Given the description of an element on the screen output the (x, y) to click on. 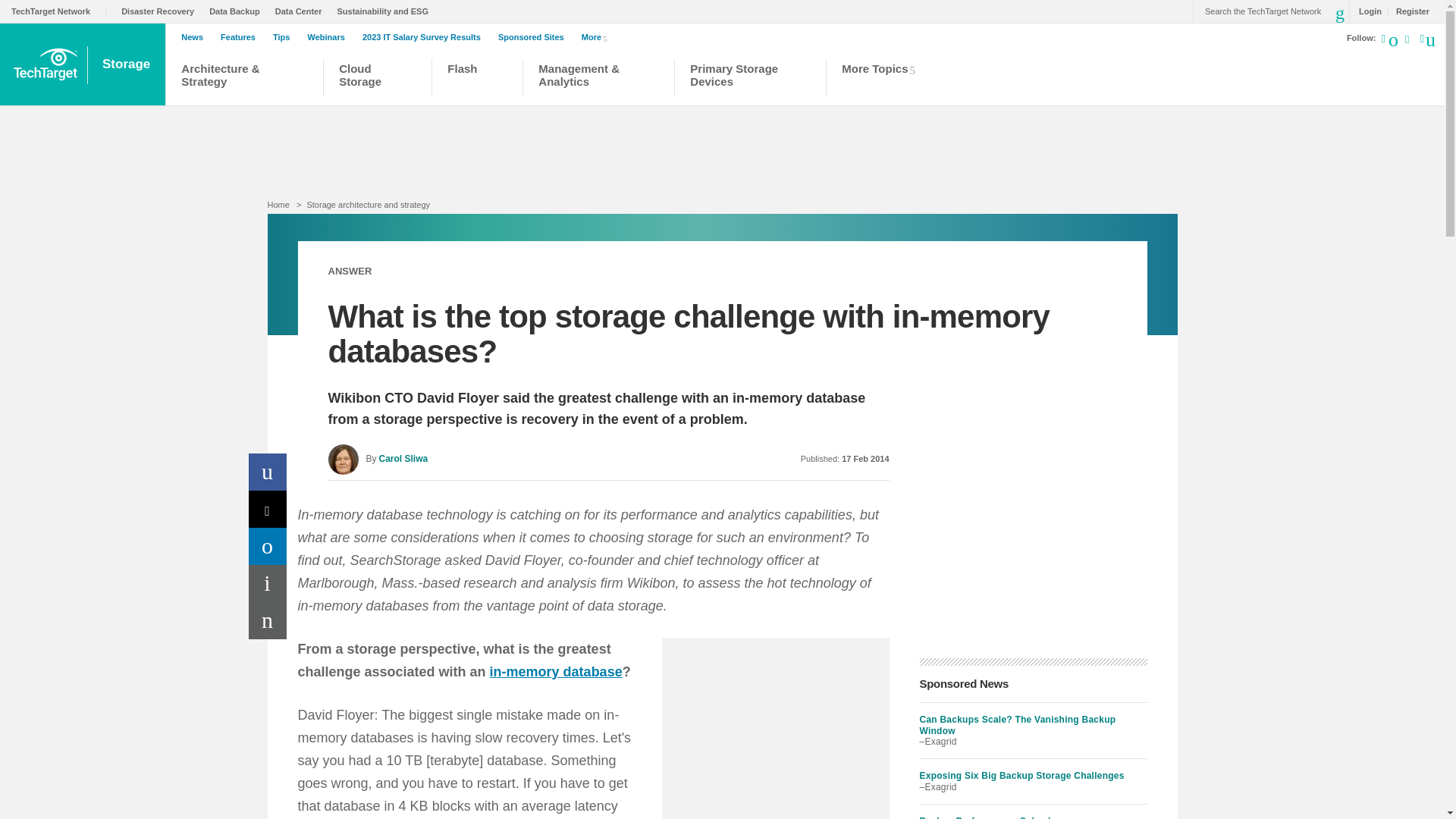
Share on LinkedIn (267, 546)
Share on Facebook (267, 471)
More Topics (882, 79)
Register (1408, 10)
Data Backup (238, 10)
Features (242, 36)
Data Center (302, 10)
Login (1366, 10)
Disaster Recovery (161, 10)
Cloud Storage (377, 79)
Primary Storage Devices (750, 79)
2023 IT Salary Survey Results (424, 36)
Webinars (329, 36)
Share on X (267, 508)
Tips (285, 36)
